Given the description of an element on the screen output the (x, y) to click on. 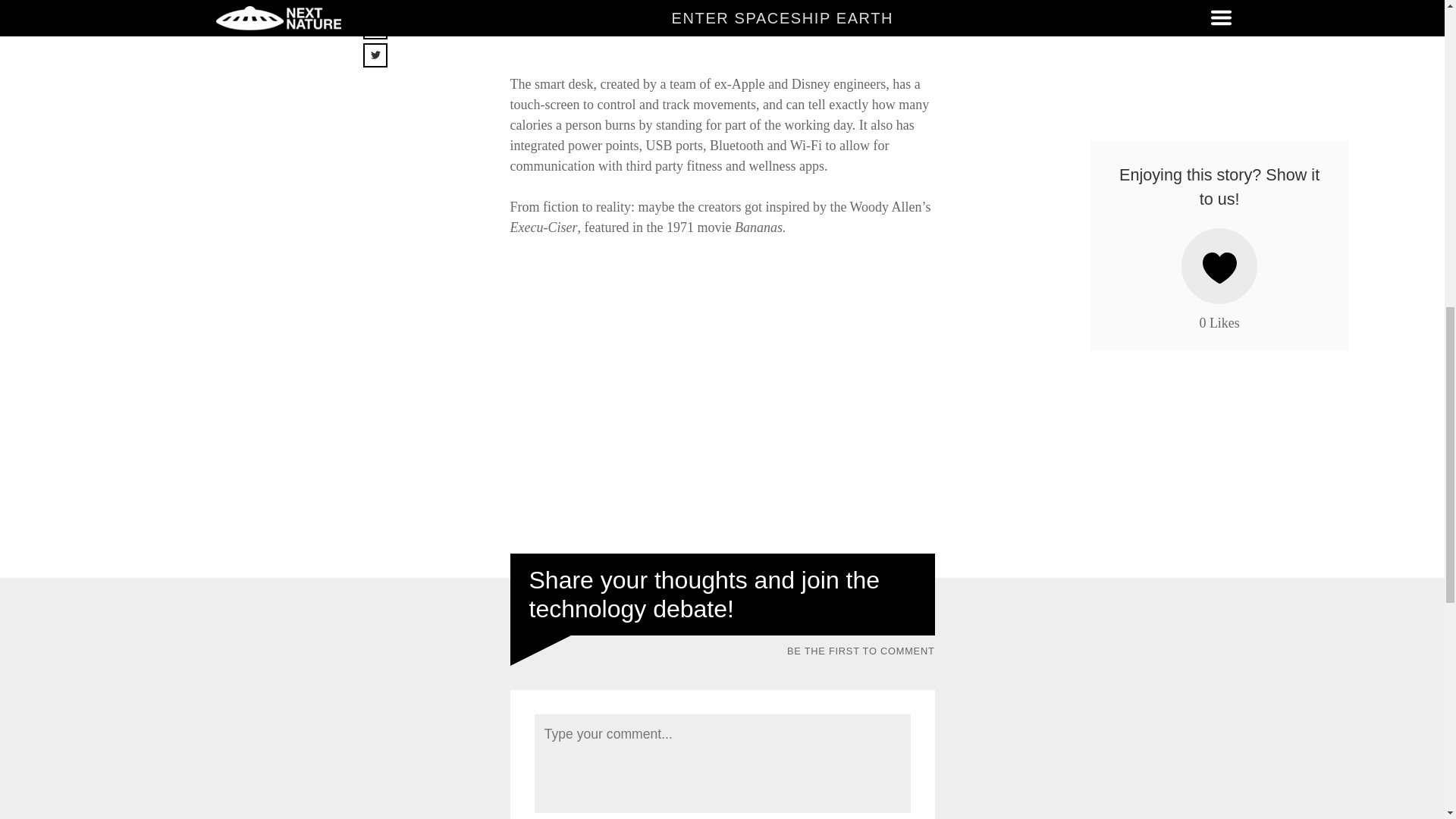
Twitter (384, 63)
LinkedIn (389, 35)
Facebook (392, 13)
